Given the description of an element on the screen output the (x, y) to click on. 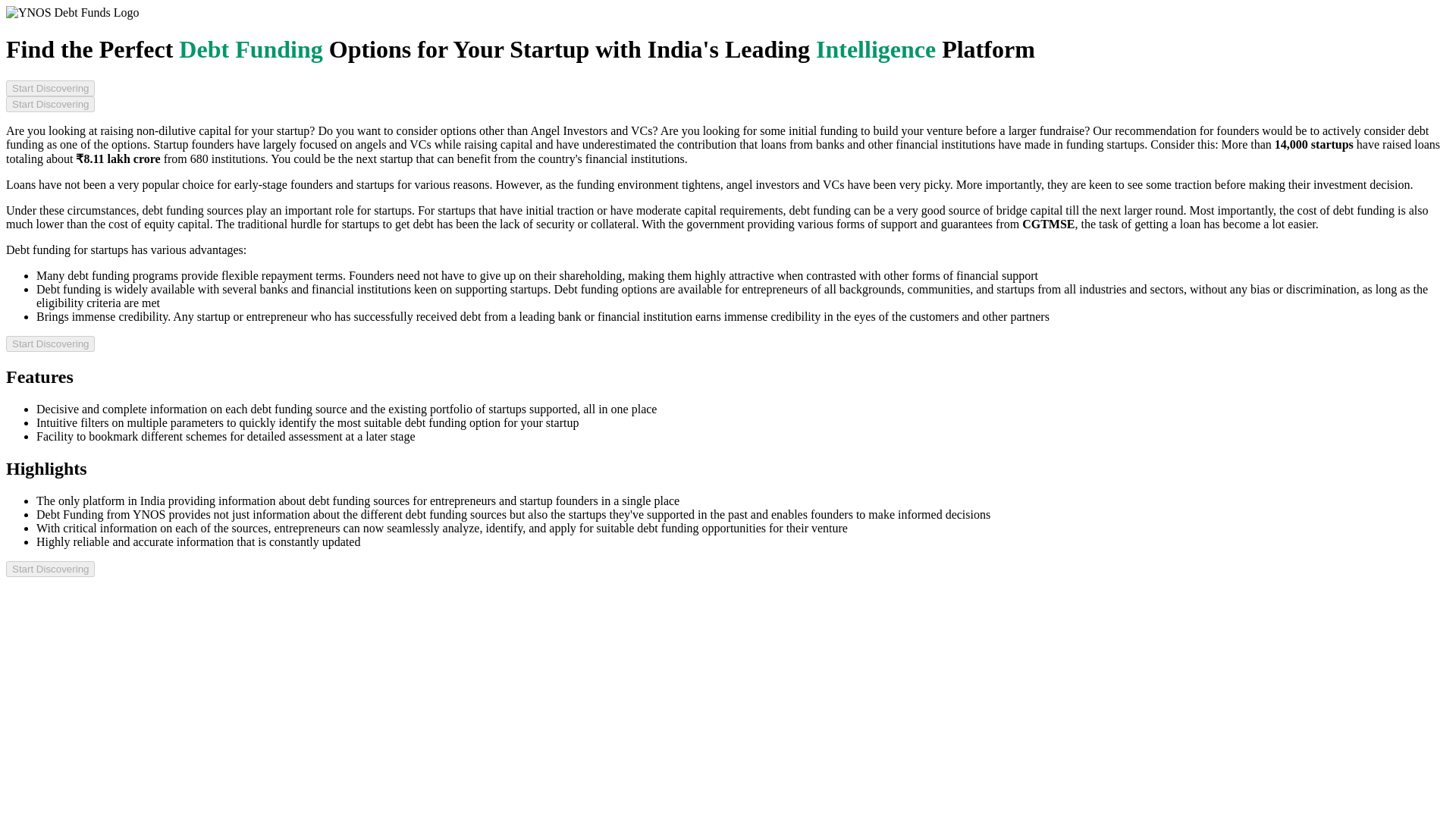
Start Discovering (49, 343)
Start Discovering (49, 88)
Start Discovering (49, 104)
